Given the description of an element on the screen output the (x, y) to click on. 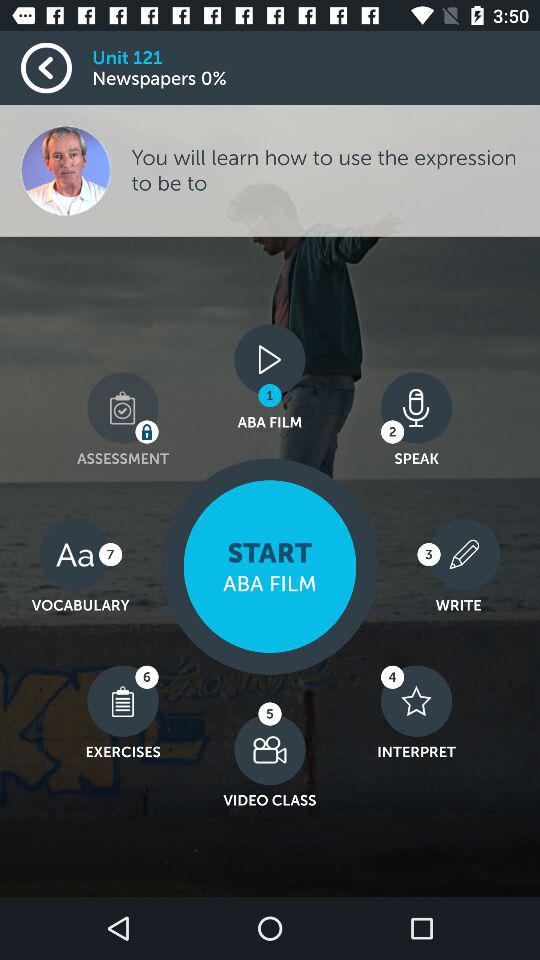
start (269, 566)
